Given the description of an element on the screen output the (x, y) to click on. 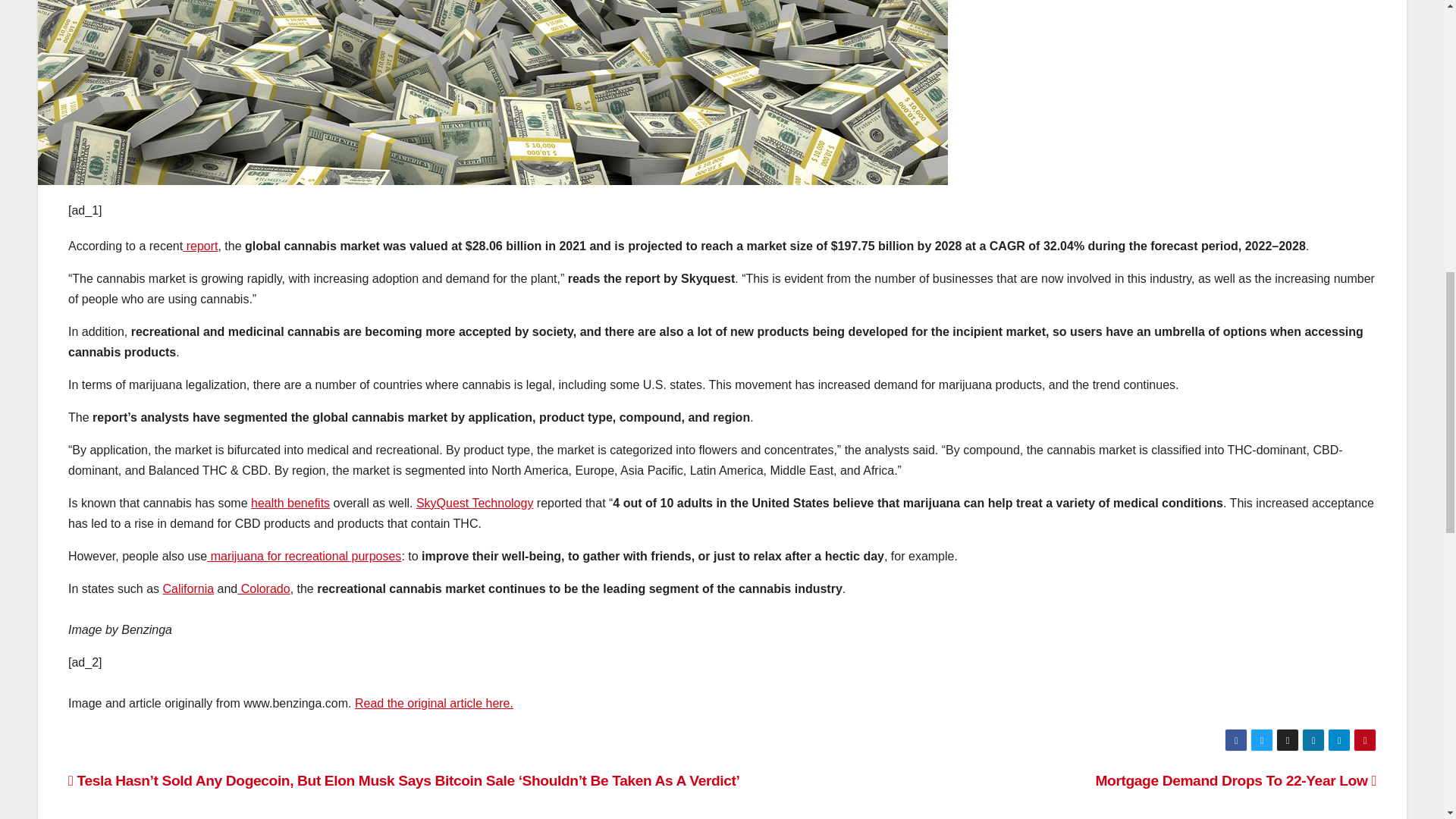
health benefits (290, 502)
Read the original article here. (434, 703)
California (188, 588)
SkyQuest Technology (474, 502)
Colorado (263, 588)
marijuana for recreational purposes (303, 555)
Mortgage Demand Drops To 22-Year Low (1234, 780)
report (199, 245)
